Given the description of an element on the screen output the (x, y) to click on. 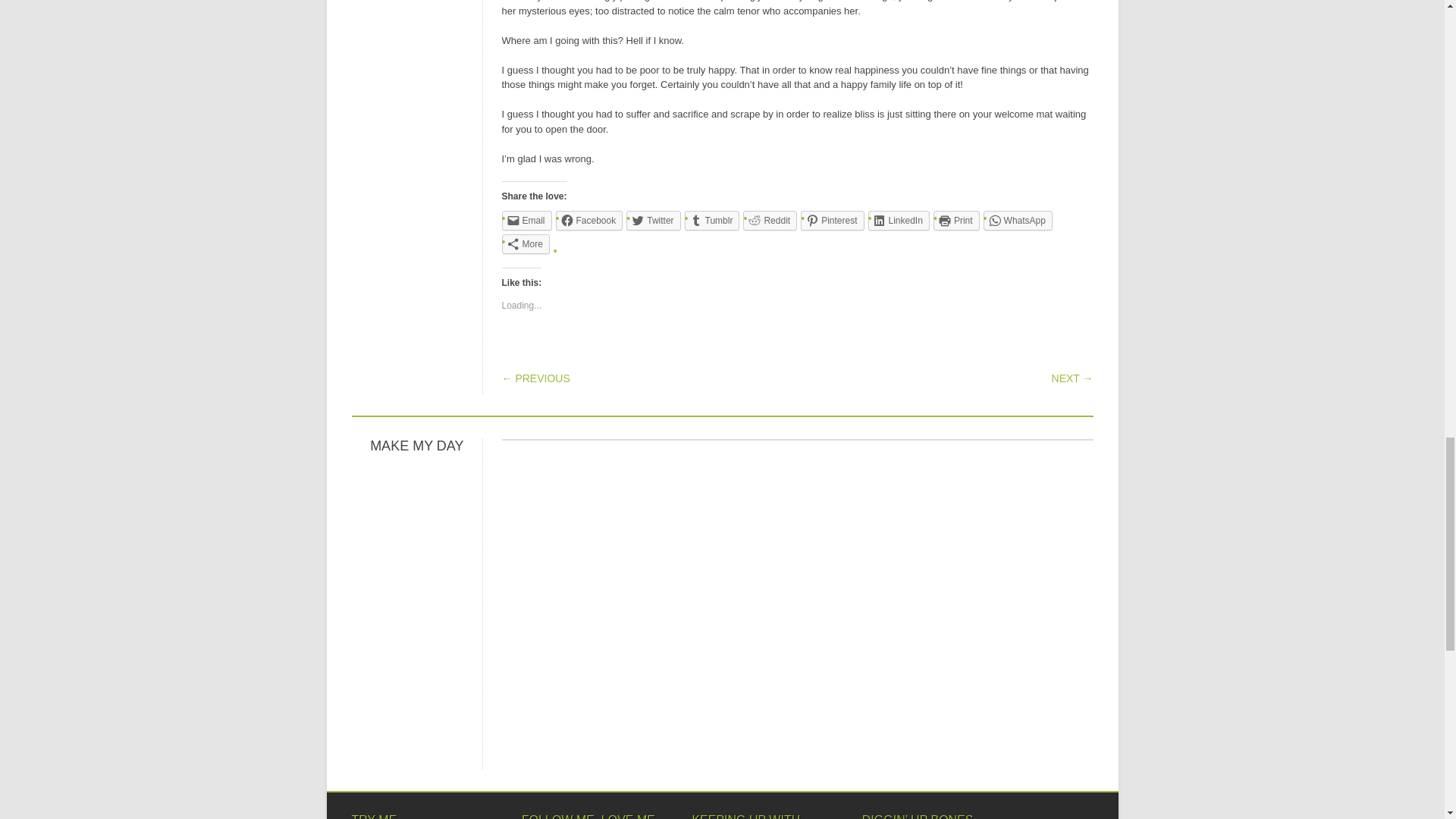
More (526, 243)
Click to share on Reddit (769, 220)
Reddit (769, 220)
Click to share on Facebook (589, 220)
Email (526, 220)
Twitter (652, 220)
Facebook (589, 220)
Click to email a link to a friend (526, 220)
LinkedIn (897, 220)
WhatsApp (1018, 220)
